Given the description of an element on the screen output the (x, y) to click on. 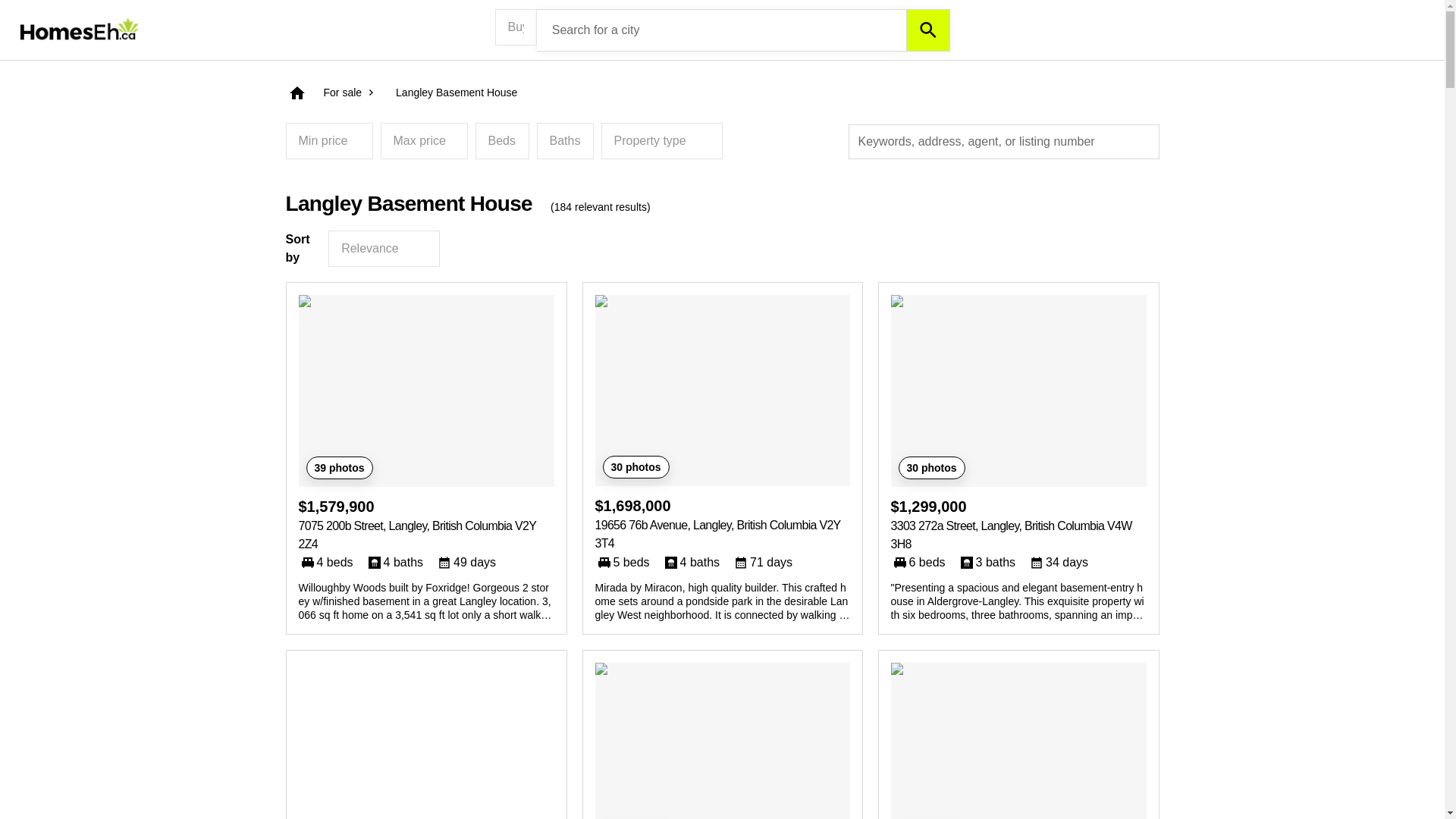
Advertisement (426, 740)
